Given the description of an element on the screen output the (x, y) to click on. 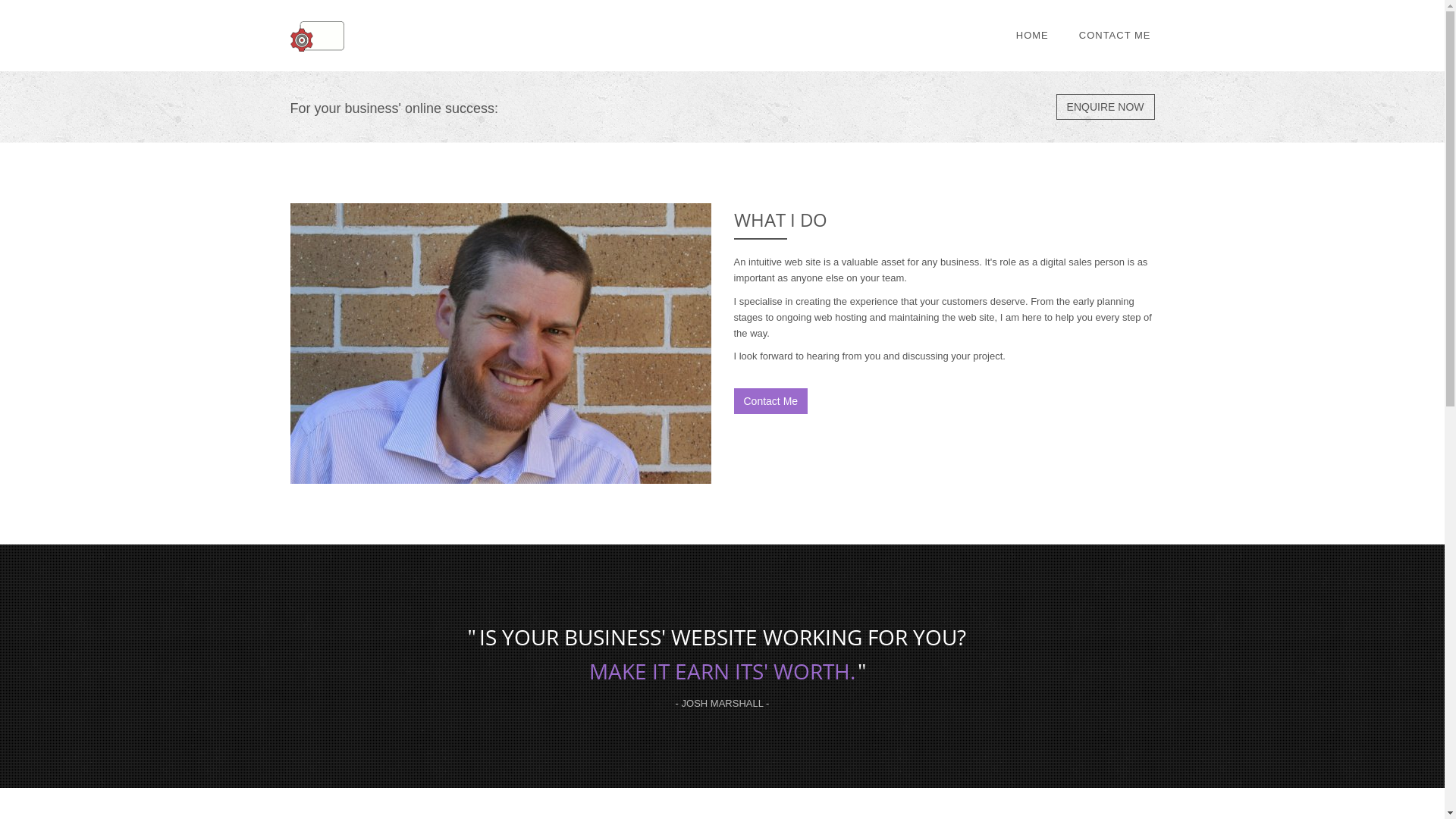
CONTACT ME Element type: text (1114, 35)
Contact Me Element type: text (771, 401)
HOME Element type: text (1032, 35)
ENQUIRE NOW Element type: text (1105, 106)
